Given the description of an element on the screen output the (x, y) to click on. 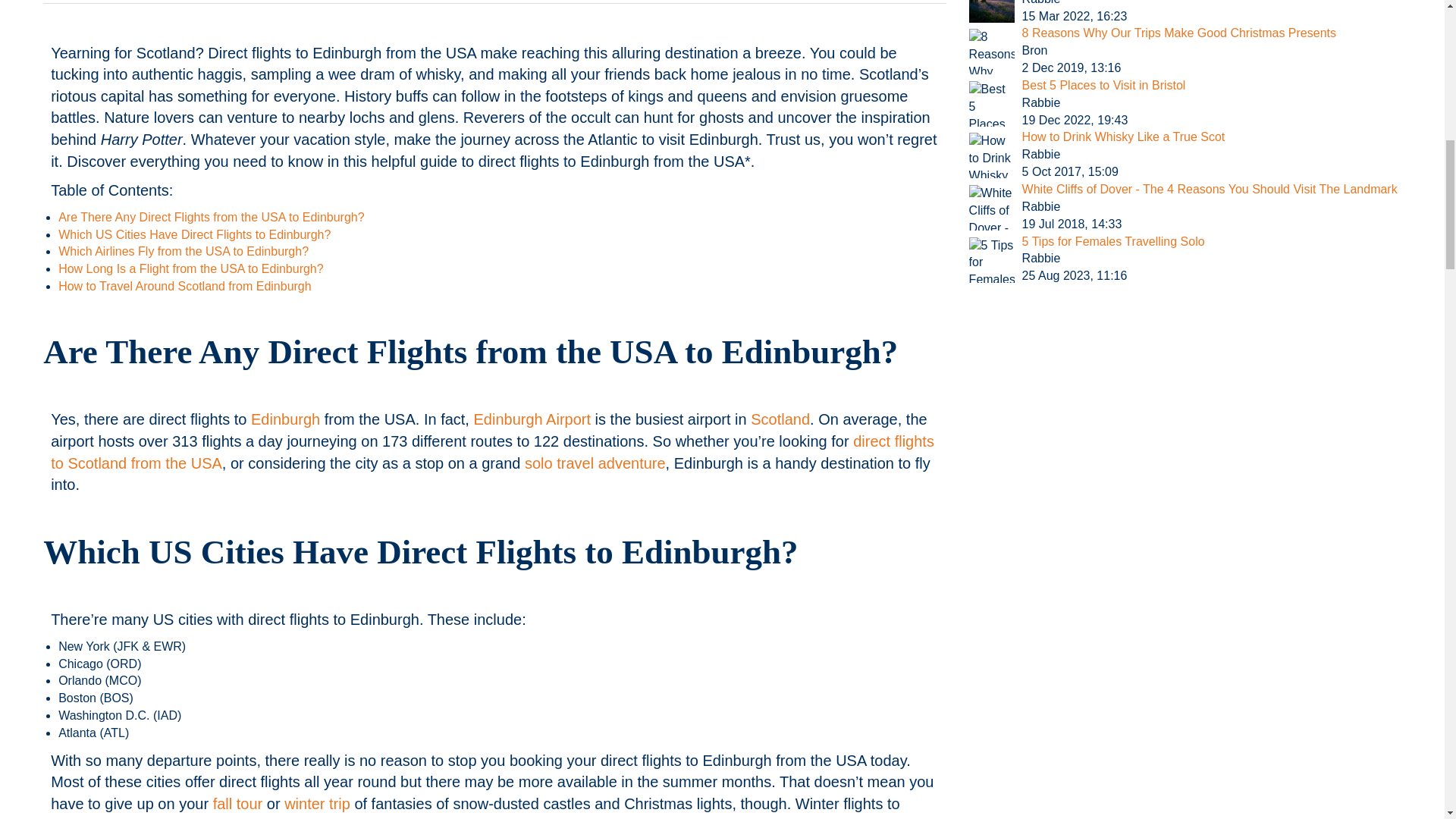
winter trip (316, 803)
Which US Cities Have Direct Flights to Edinburgh? (194, 233)
solo travel adventure (594, 463)
Which Airlines Fly from the USA to Edinburgh? (183, 250)
direct flights to Scotland from the USA (492, 452)
Edinburgh (285, 419)
Edinburgh Airport (532, 419)
Are There Any Direct Flights from the USA to Edinburgh? (211, 216)
Scotland (780, 419)
How to Travel Around Scotland from Edinburgh (184, 286)
